Given the description of an element on the screen output the (x, y) to click on. 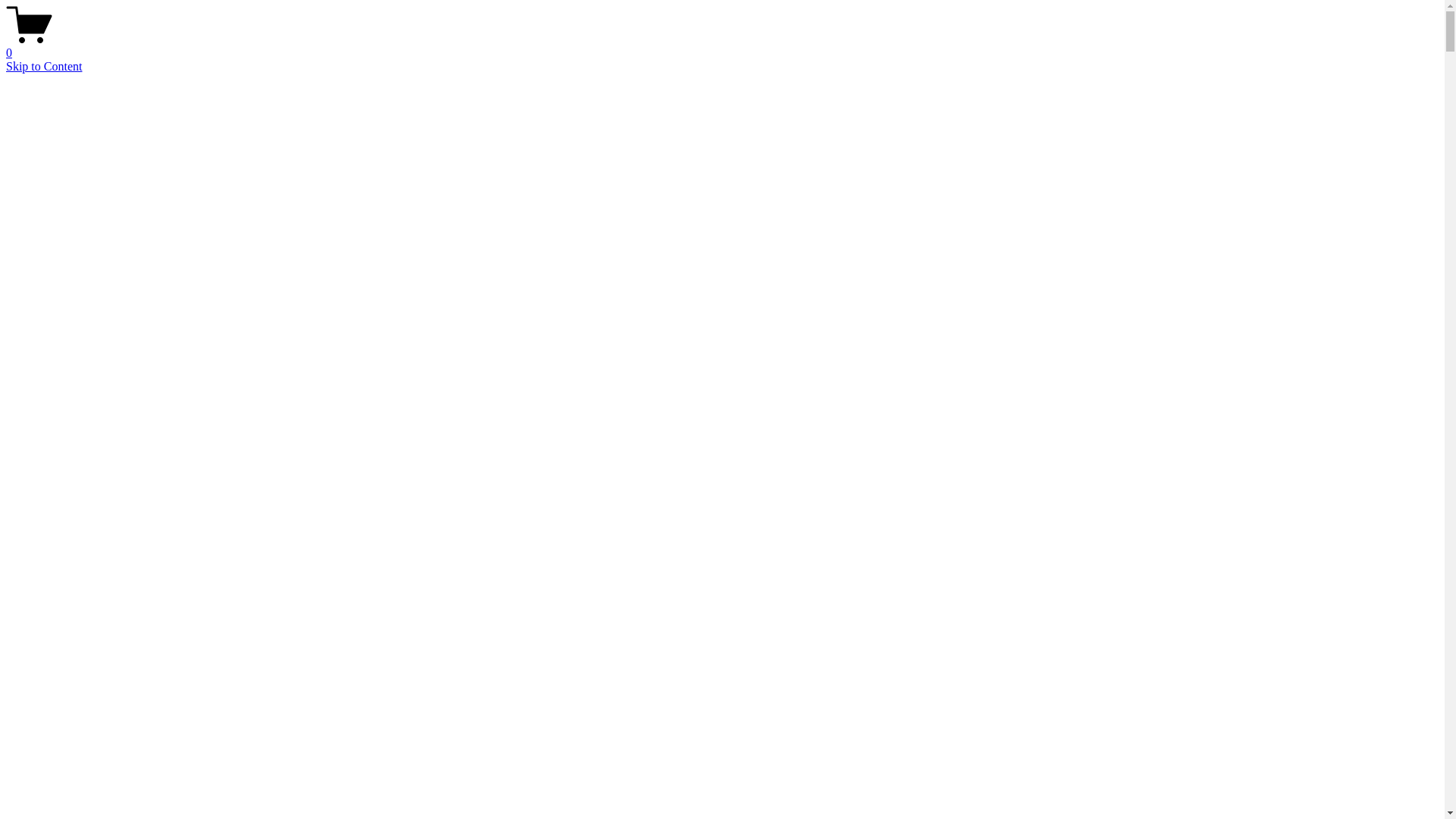
Skip to Content Element type: text (43, 65)
0 Element type: text (722, 45)
